Given the description of an element on the screen output the (x, y) to click on. 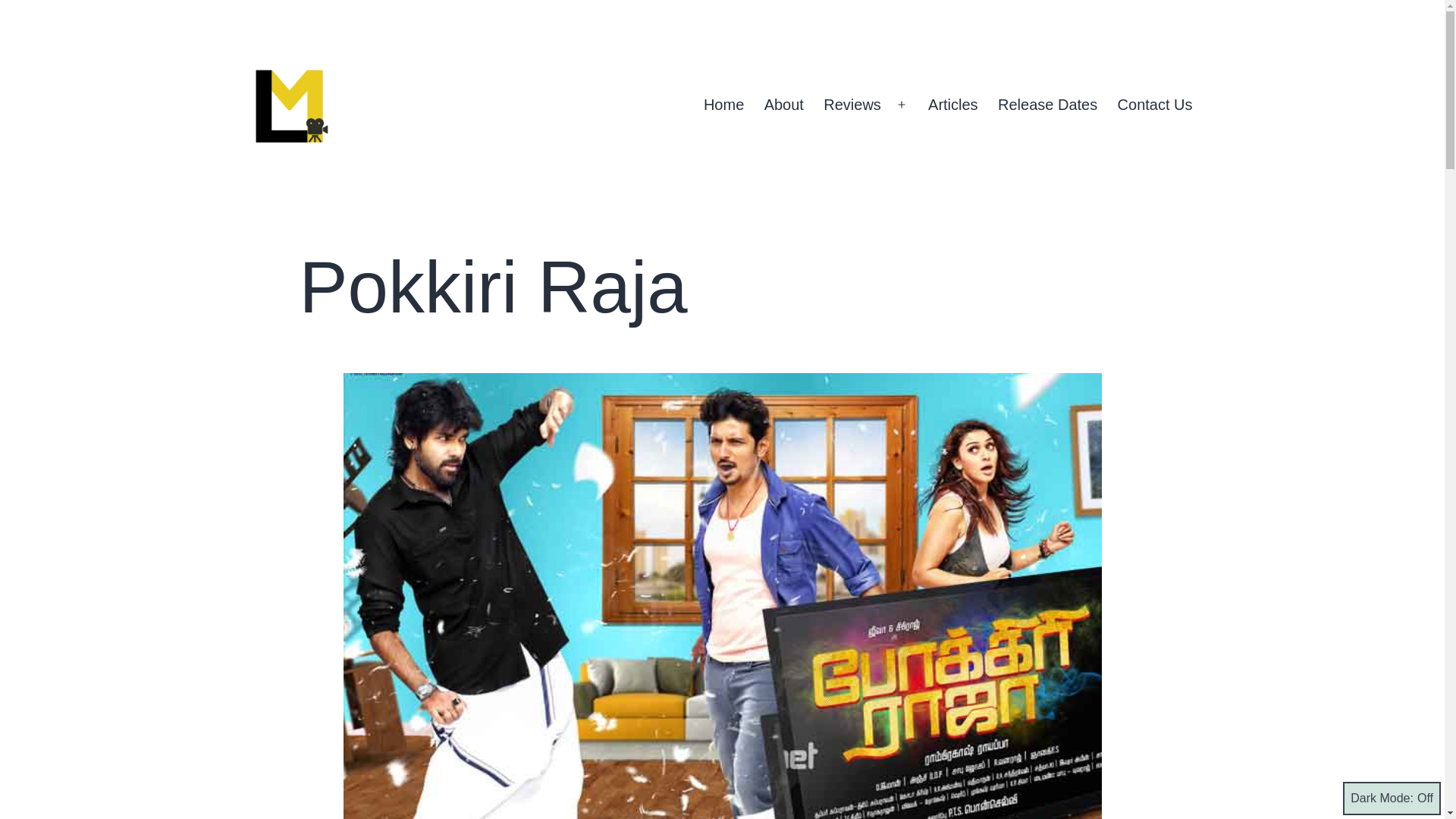
Reviews (852, 105)
Articles (953, 105)
About (783, 105)
Home (724, 105)
Open menu (901, 105)
Release Dates (1048, 105)
Contact Us (1154, 105)
